Given the description of an element on the screen output the (x, y) to click on. 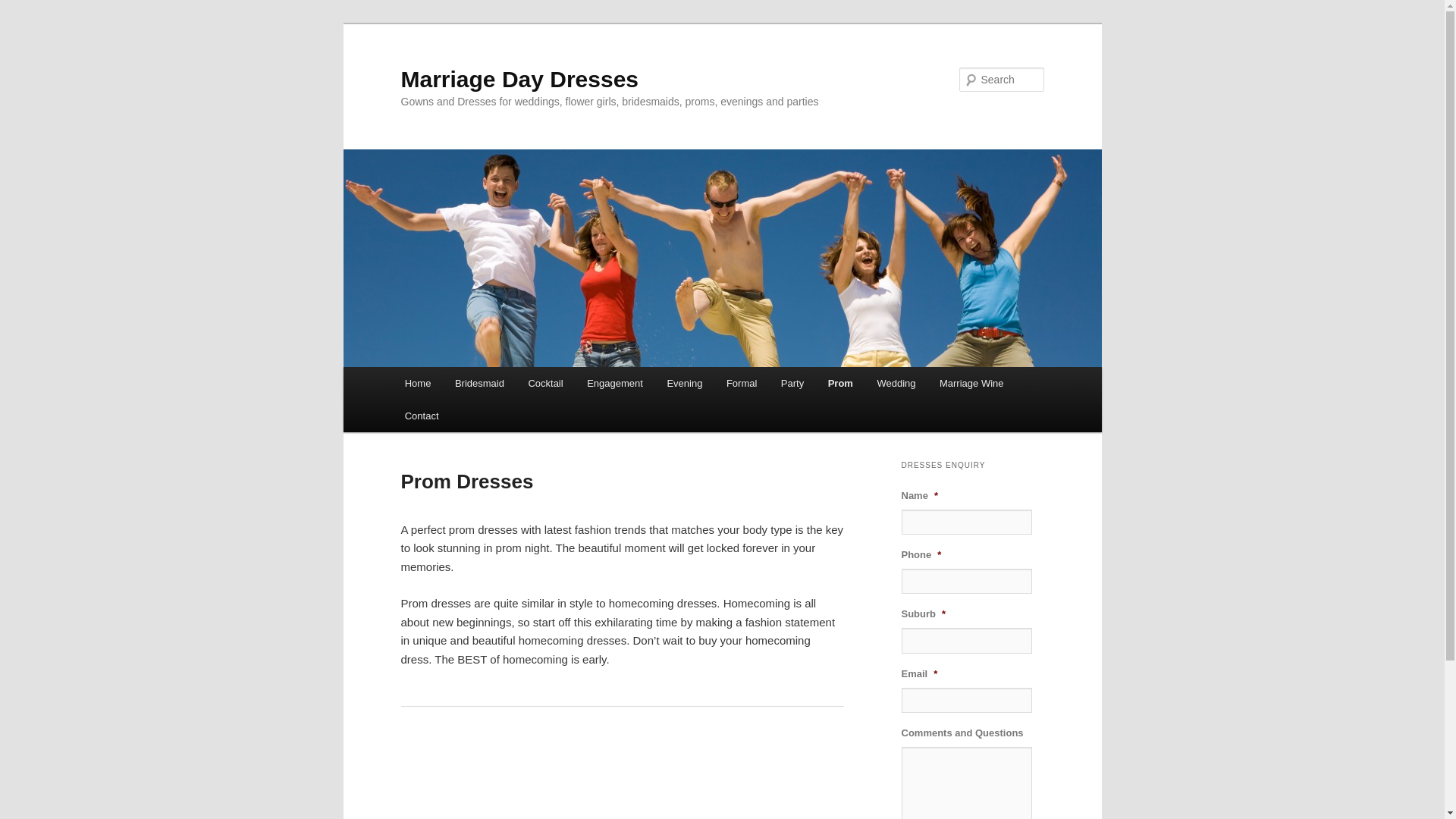
Evening Element type: text (684, 383)
Marriage Day Dresses Element type: text (519, 78)
Bridesmaid Element type: text (479, 383)
Home Element type: text (417, 383)
Wedding Element type: text (896, 383)
Contact Element type: text (421, 415)
Skip to primary content Element type: text (22, 22)
Search Element type: text (24, 8)
Cocktail Element type: text (545, 383)
Marriage Wine Element type: text (971, 383)
Formal Element type: text (741, 383)
Party Element type: text (791, 383)
Engagement Element type: text (614, 383)
Prom Element type: text (840, 383)
